Given the description of an element on the screen output the (x, y) to click on. 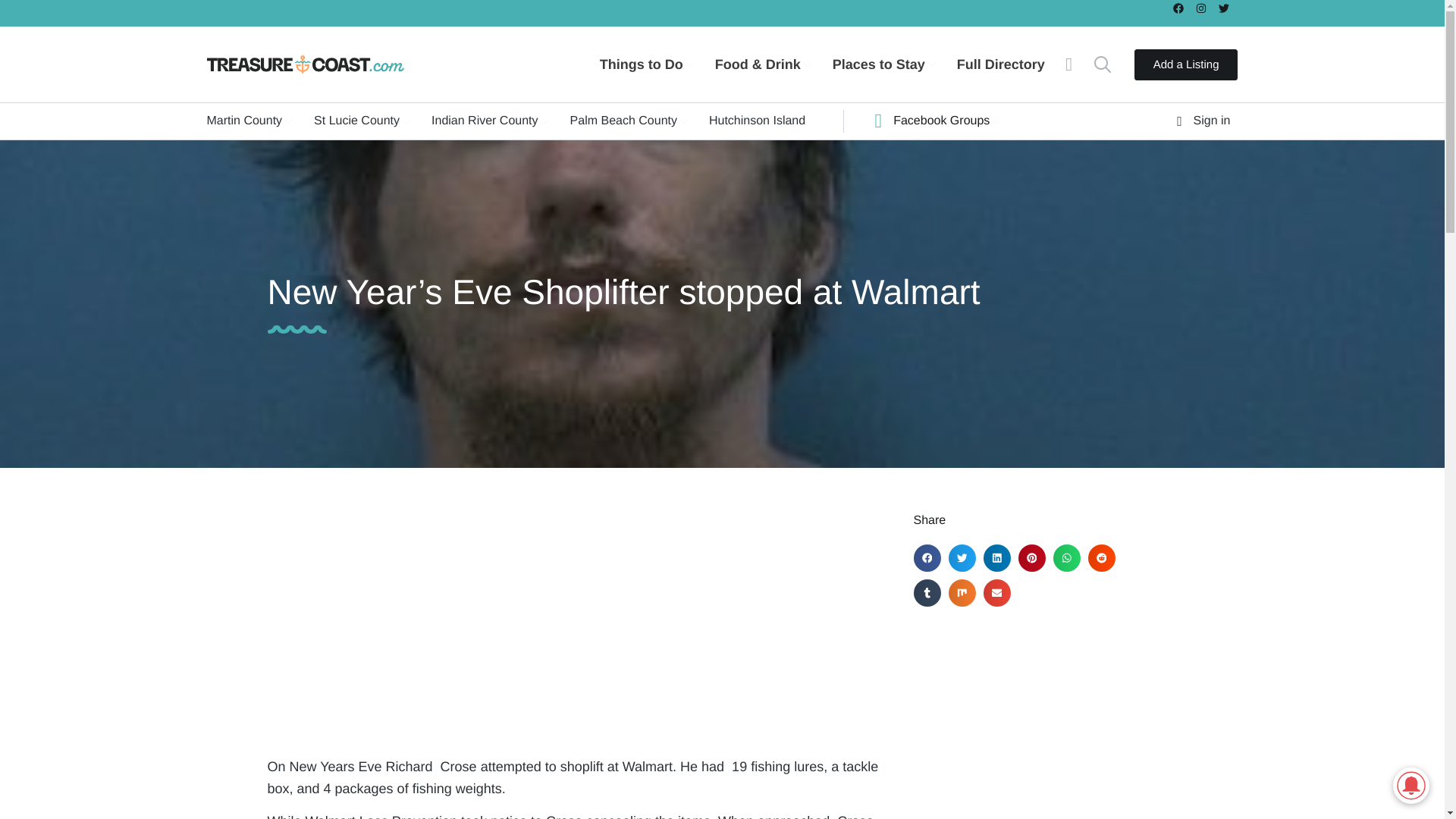
Full Directory (1011, 64)
Advertisement (574, 619)
Things to Do (656, 64)
Advertisement (1044, 720)
Facebook Groups (944, 120)
Places to Stay (894, 64)
Add a Listing (1186, 63)
